Given the description of an element on the screen output the (x, y) to click on. 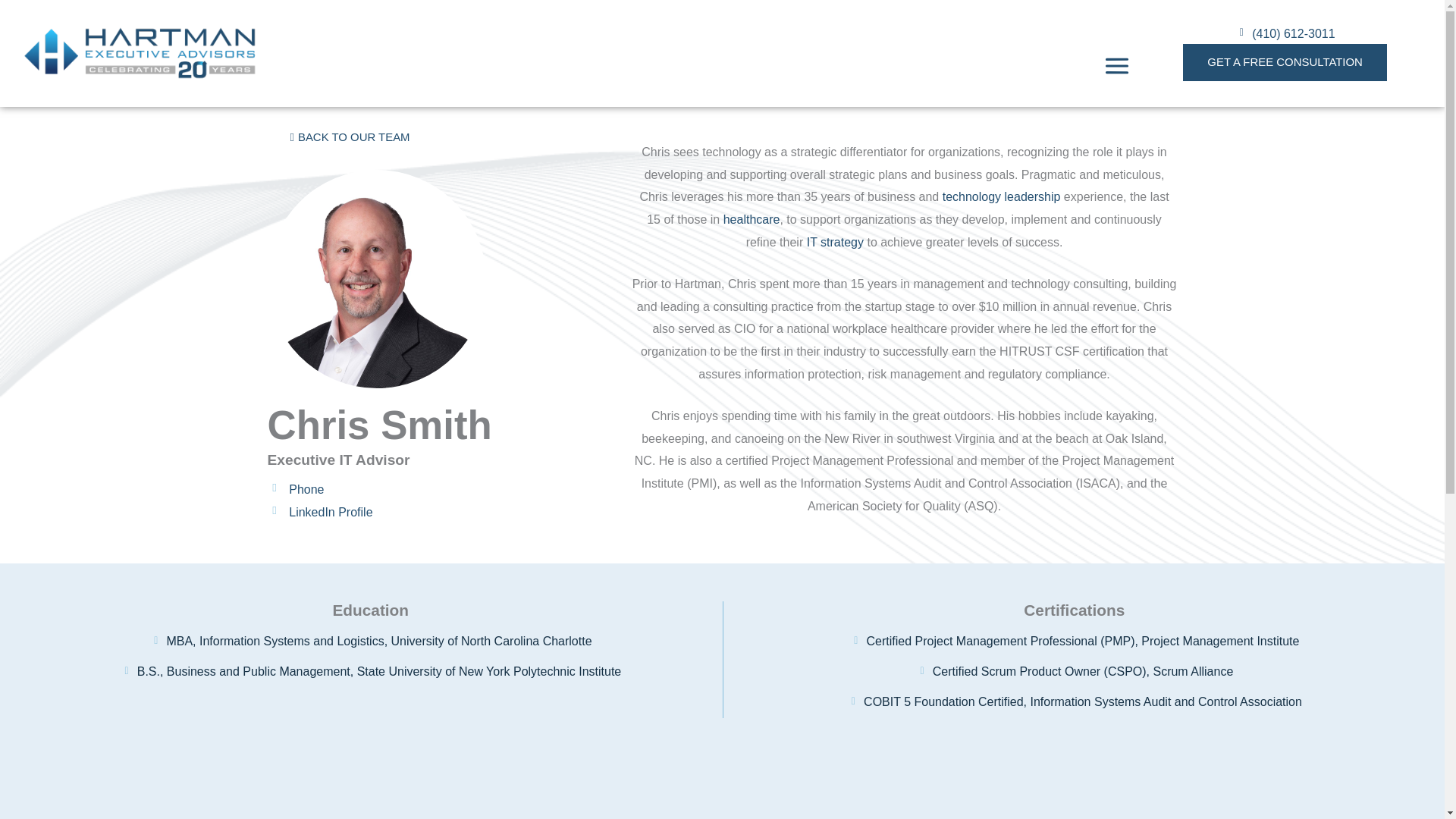
healthcare (751, 219)
GET A FREE CONSULTATION (1284, 62)
BACK TO OUR TEAM (349, 137)
Phone (448, 495)
IT strategy (834, 241)
technology leadership (1001, 196)
LinkedIn Profile (448, 517)
